Given the description of an element on the screen output the (x, y) to click on. 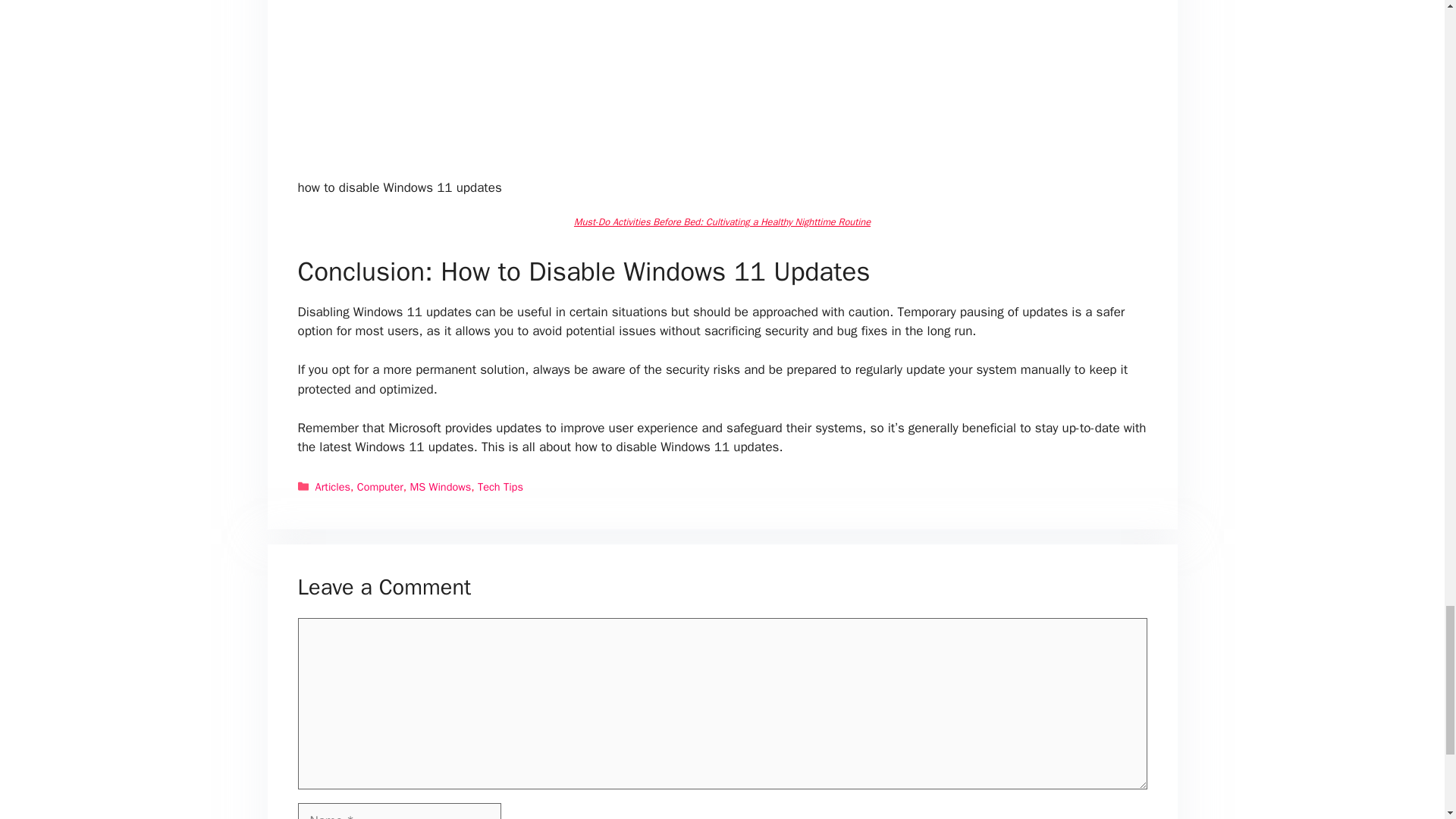
Computer (379, 486)
Articles (332, 486)
MS Windows (439, 486)
Tech Tips (499, 486)
